Given the description of an element on the screen output the (x, y) to click on. 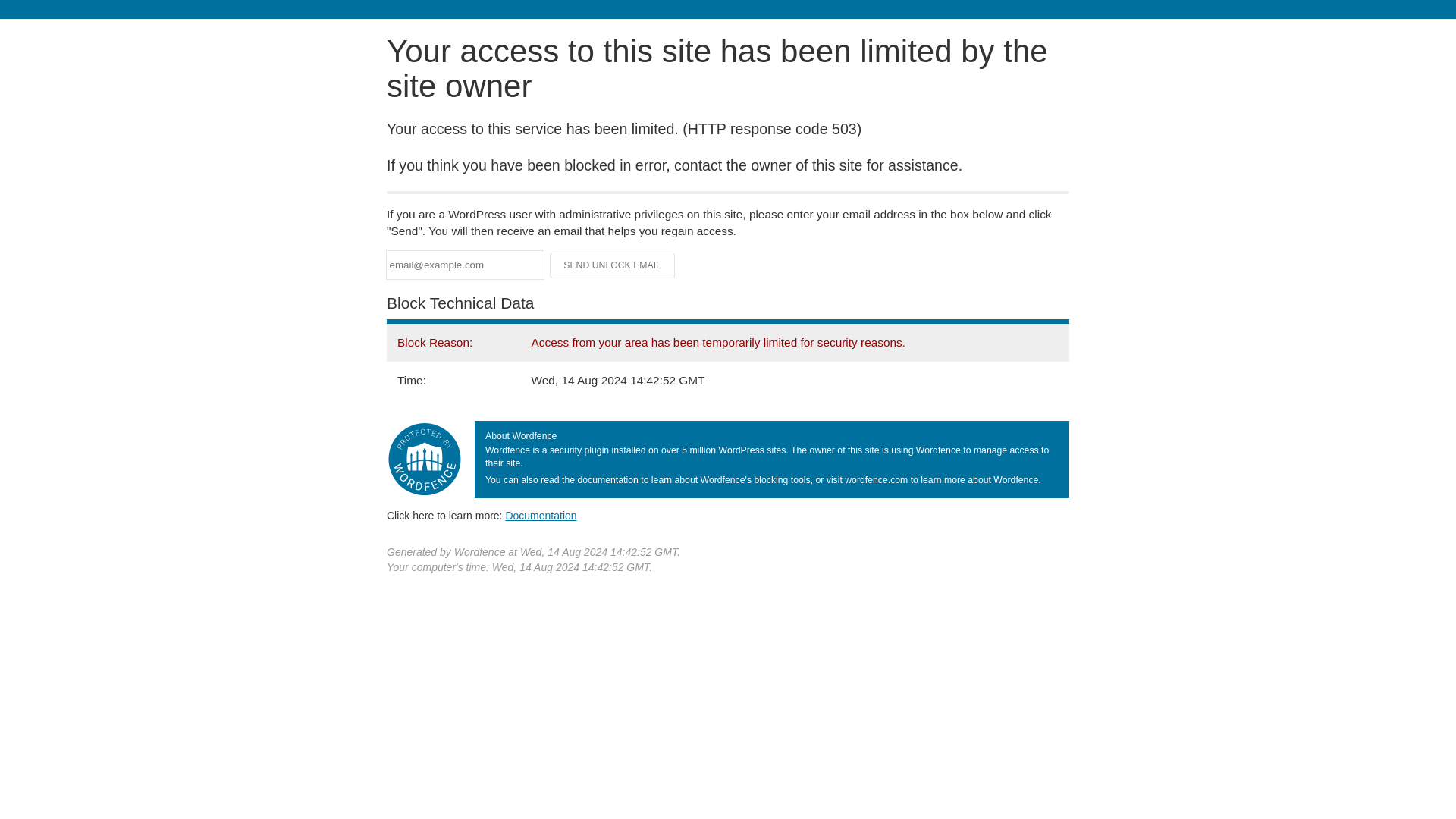
Send Unlock Email (612, 265)
Send Unlock Email (612, 265)
Documentation (540, 515)
